Given the description of an element on the screen output the (x, y) to click on. 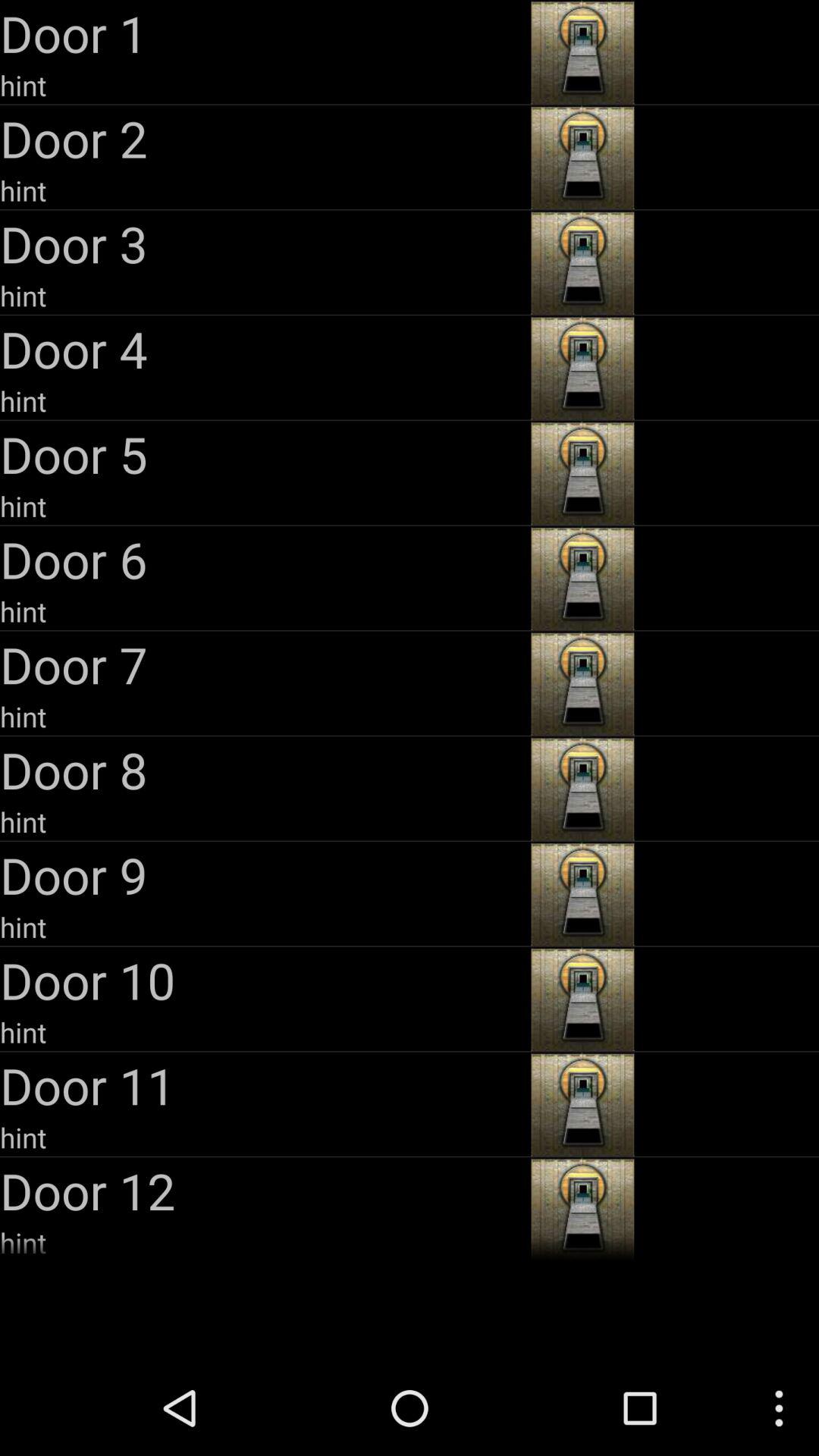
open the app above hint item (263, 874)
